Given the description of an element on the screen output the (x, y) to click on. 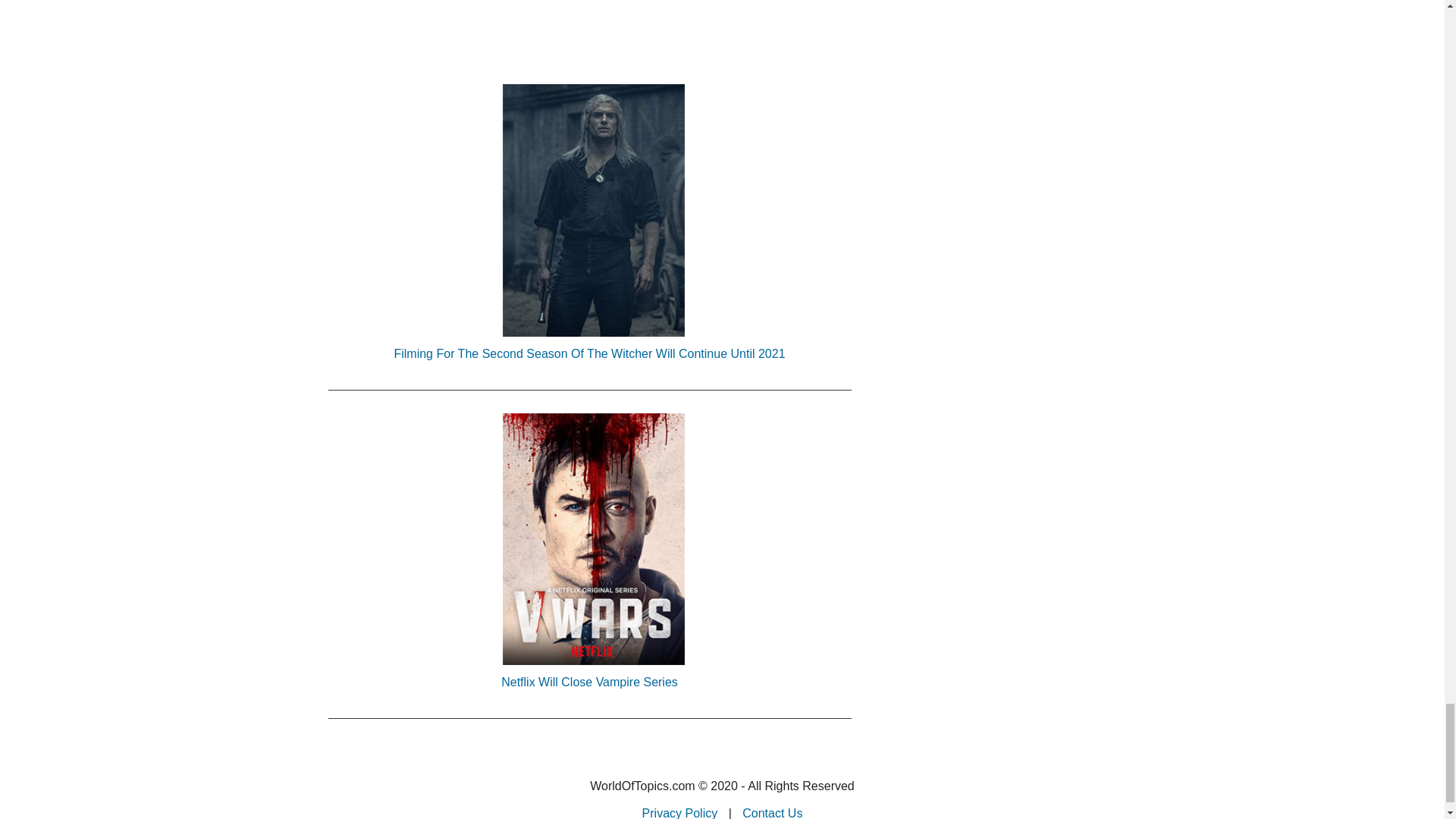
Contact Us (772, 812)
Privacy Policy (679, 812)
Netflix Will Close Vampire Series (588, 681)
